Given the description of an element on the screen output the (x, y) to click on. 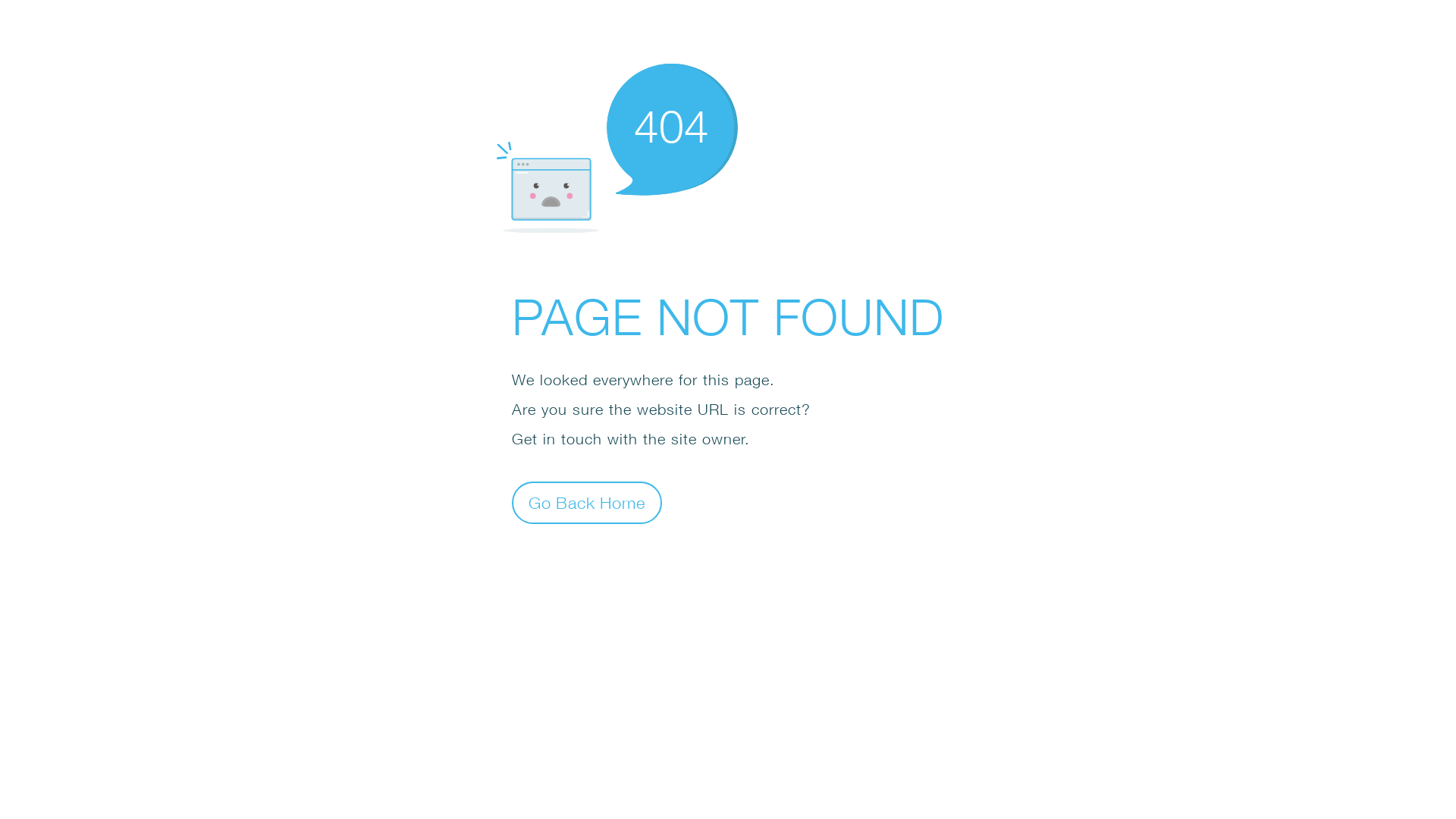
Go Back Home Element type: text (586, 502)
